Given the description of an element on the screen output the (x, y) to click on. 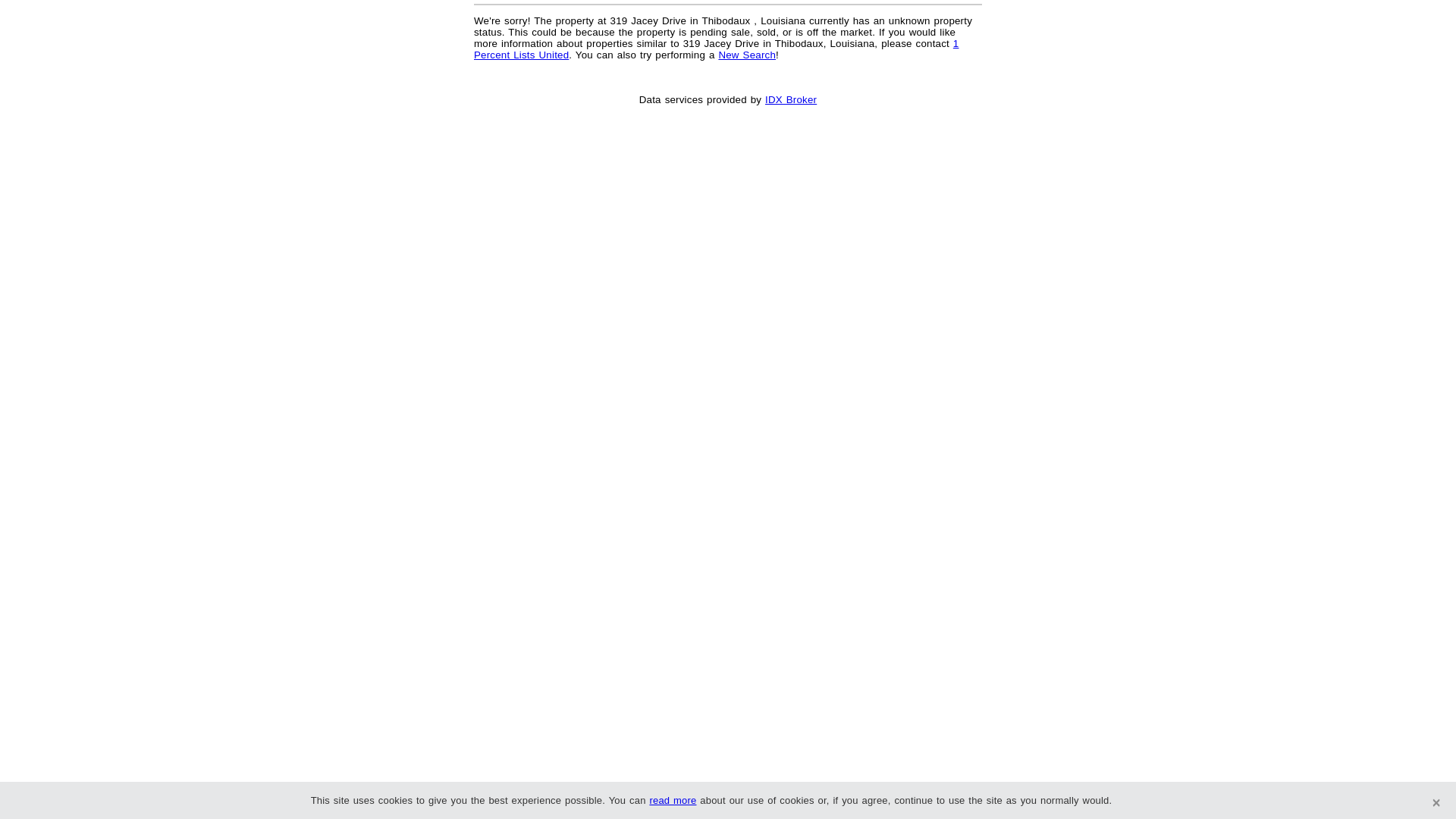
IDX Broker Element type: text (790, 99)
1 Percent Lists United Element type: text (715, 48)
New Search Element type: text (746, 54)
read more Element type: text (672, 800)
